Given the description of an element on the screen output the (x, y) to click on. 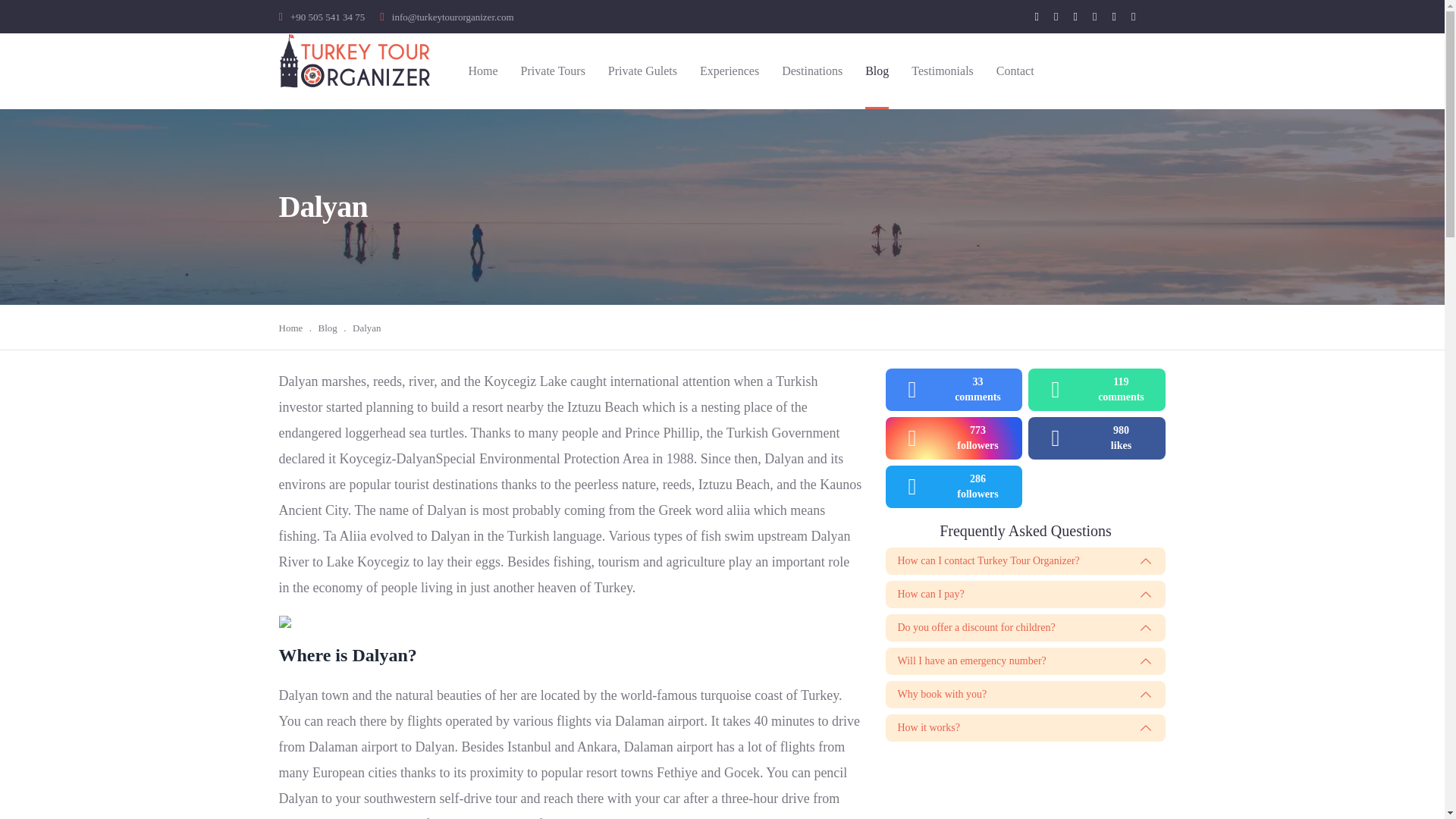
Private Gulets (1096, 389)
Why book with you? (642, 71)
Experiences (1025, 694)
Do you offer a discount for children? (729, 71)
How it works? (1025, 627)
Blog (1025, 728)
Home (327, 327)
southwestern self-drive tour (482, 71)
How can I pay? (440, 798)
Blog (1025, 594)
Destinations (876, 71)
Testimonials (1096, 437)
